Given the description of an element on the screen output the (x, y) to click on. 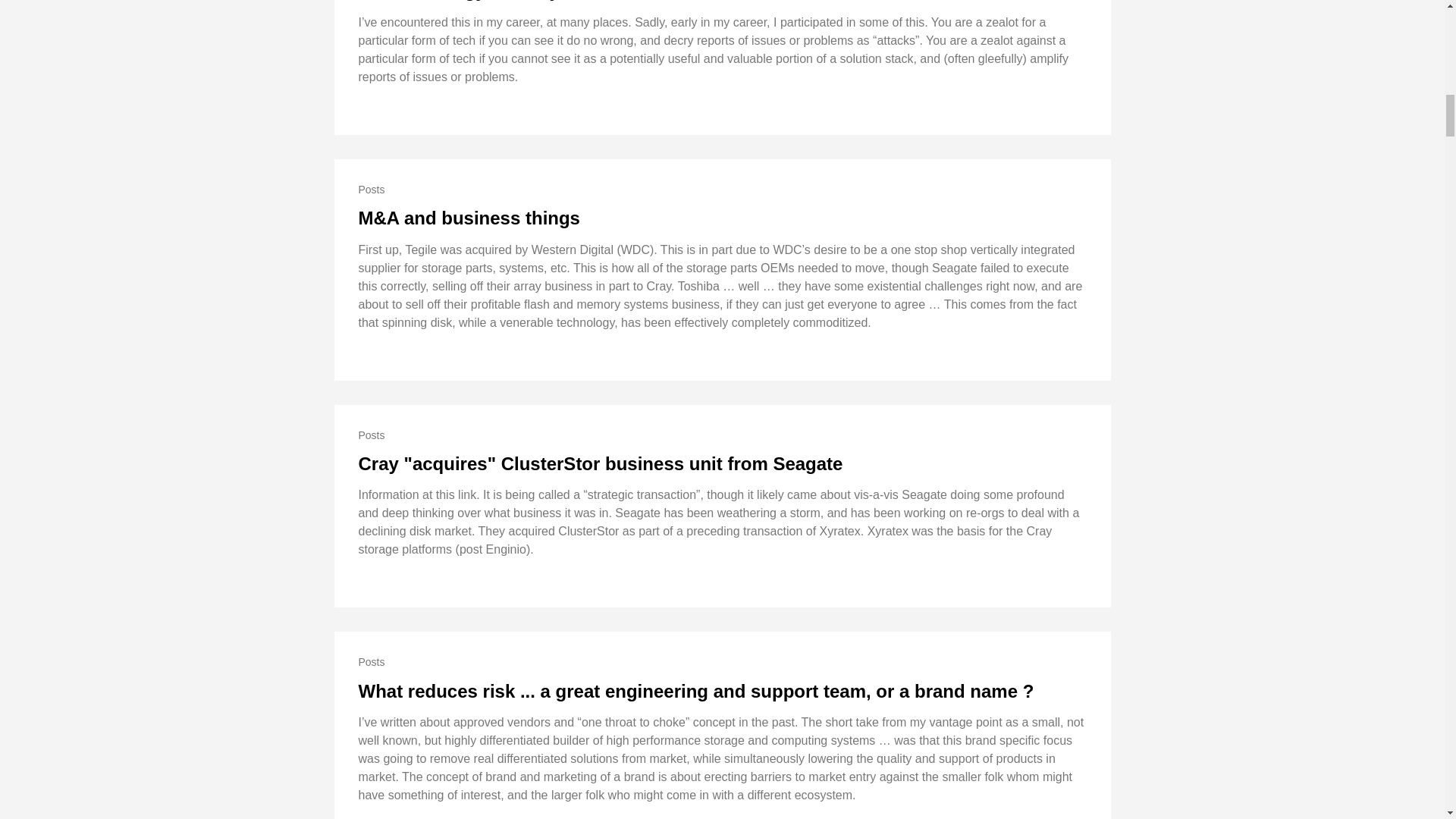
Cray "acquires" ClusterStor business unit from Seagate (600, 463)
